Given the description of an element on the screen output the (x, y) to click on. 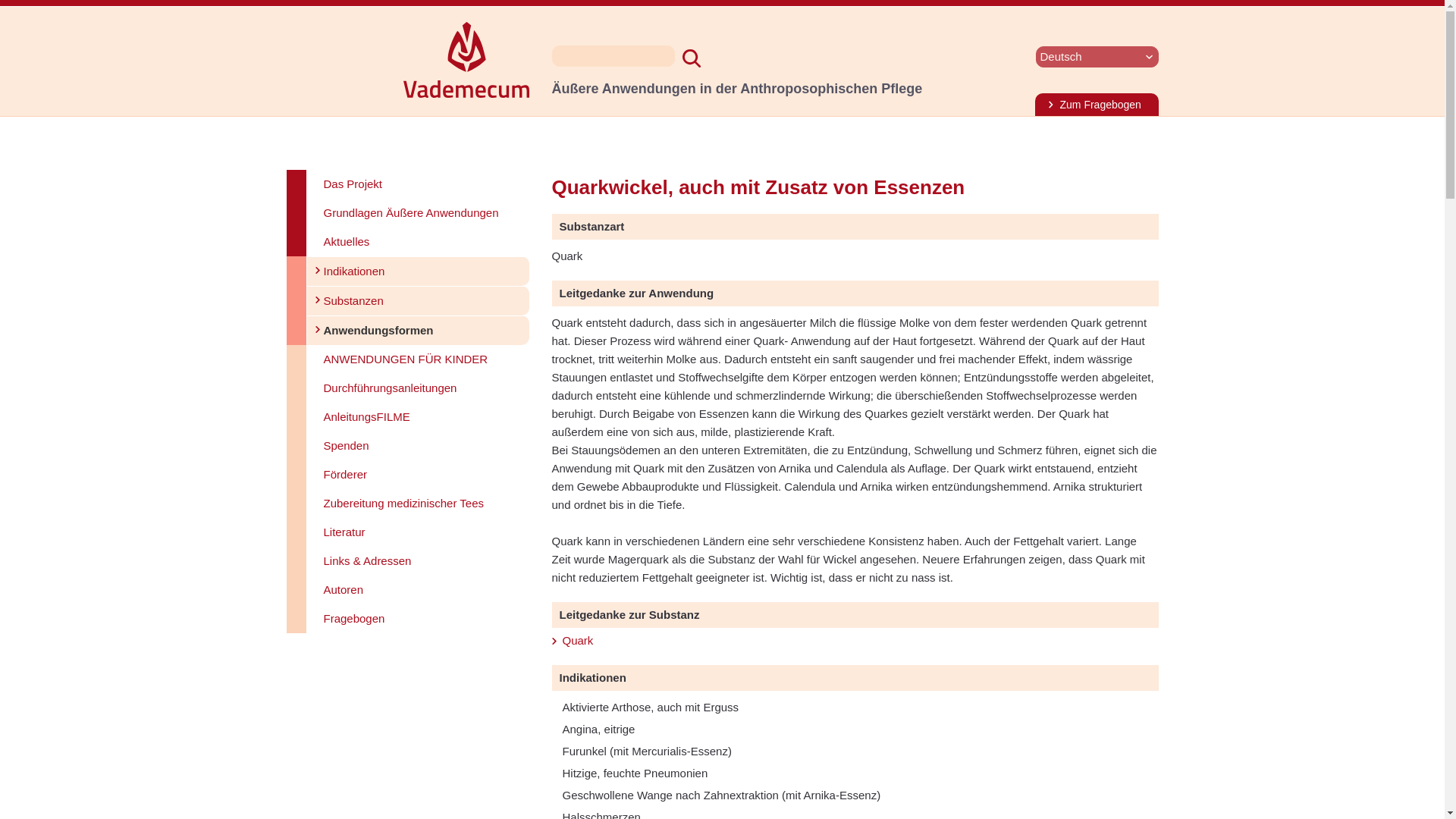
Zubereitung medizinischer Tees (417, 502)
Indikationen (417, 270)
Fragebogen (417, 618)
Sprache (1096, 56)
Substanzen (417, 300)
Literatur (417, 532)
Anwendungsformen (417, 329)
AnleitungsFILME (417, 416)
Quark (578, 640)
Das Projekt (417, 184)
